Given the description of an element on the screen output the (x, y) to click on. 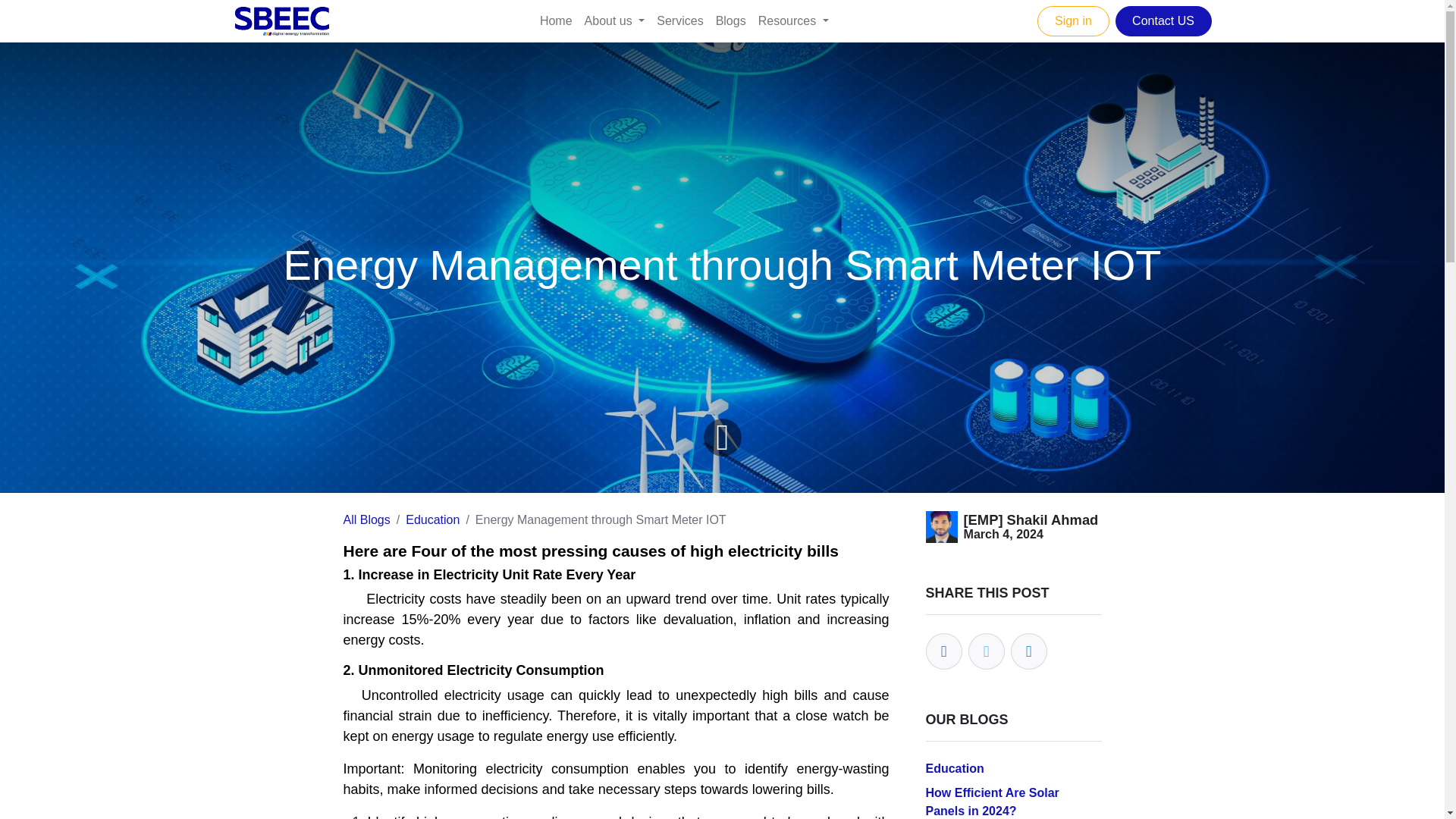
SBEEC (281, 20)
About us (614, 20)
Share on Facebook (942, 651)
Home (556, 20)
Resources (793, 20)
Share on LinkedIn (1028, 651)
Education (954, 768)
Sign in (1072, 20)
Blogs (731, 20)
Education (433, 519)
